Given the description of an element on the screen output the (x, y) to click on. 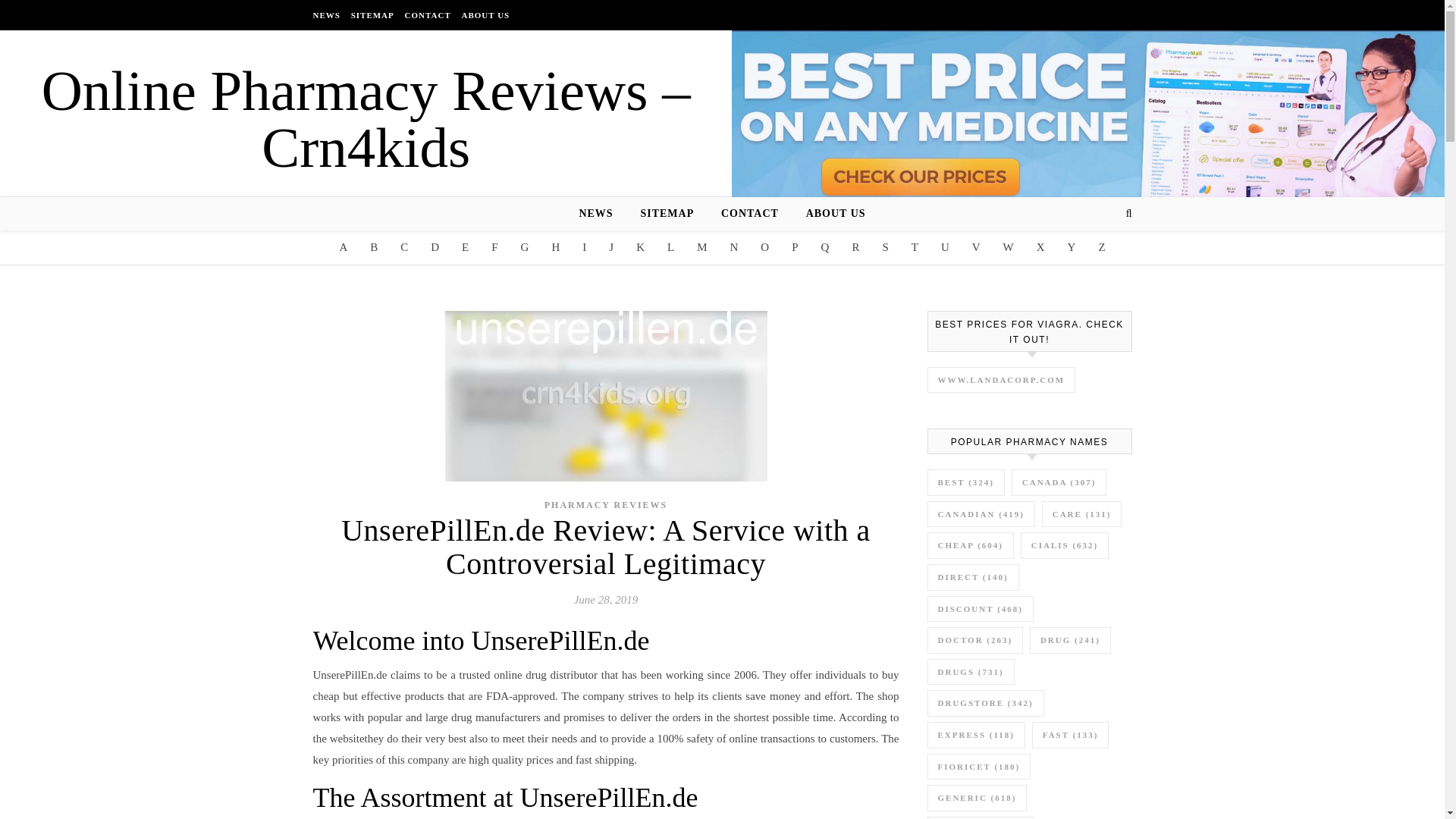
CONTACT (749, 213)
SITEMAP (666, 213)
ABOUT US (829, 213)
NEWS (328, 15)
NEWS (601, 213)
SITEMAP (372, 15)
W (1007, 247)
CONTACT (427, 15)
ABOUT US (483, 15)
